Given the description of an element on the screen output the (x, y) to click on. 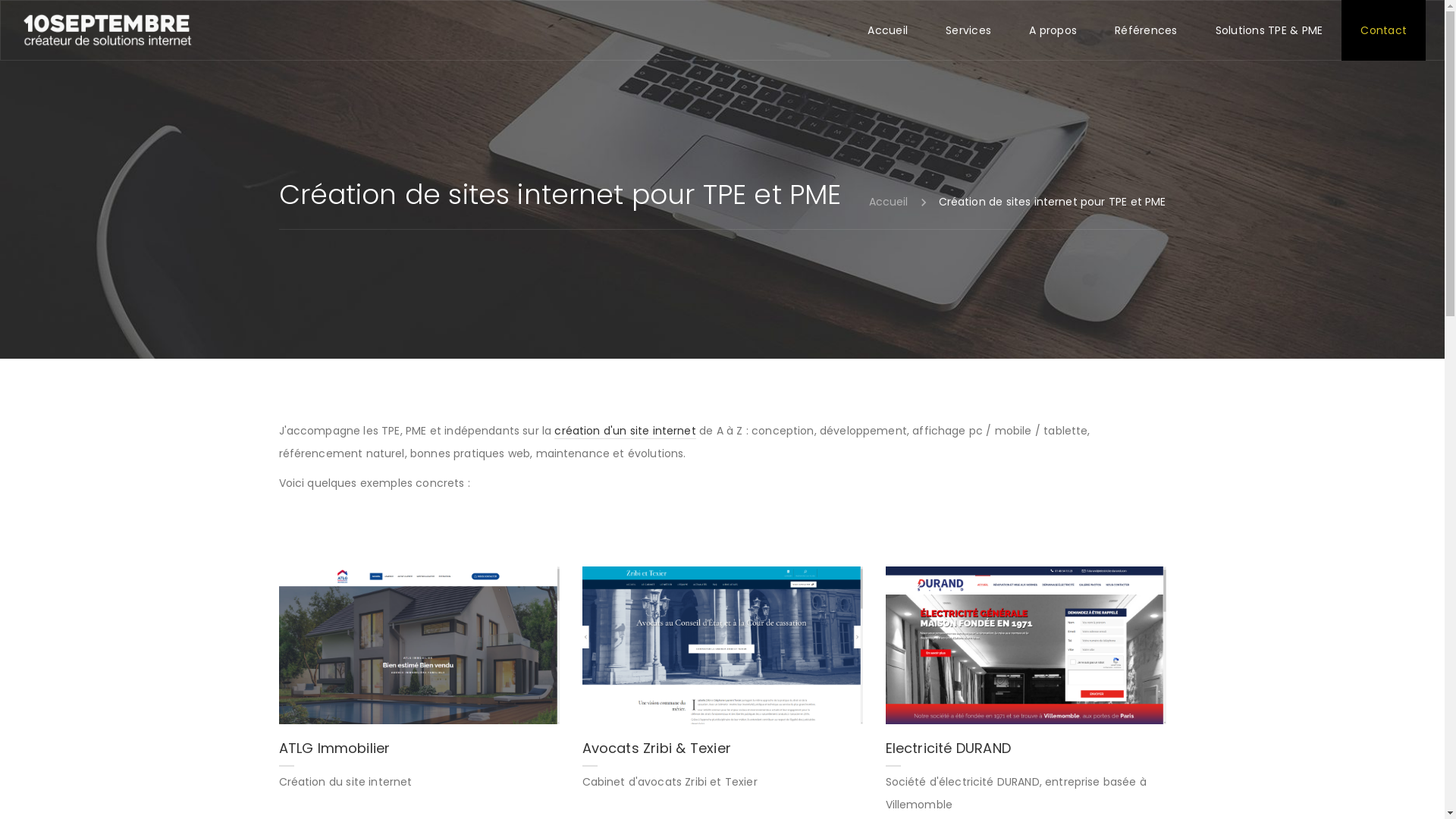
ATLG Immobilier Element type: hover (419, 644)
Services Element type: text (968, 29)
ATLG Immobilier Element type: text (419, 752)
Accueil Element type: text (888, 201)
Accueil Element type: text (887, 29)
Solutions TPE & PME Element type: text (1269, 29)
A propos Element type: text (1052, 29)
Avocats Zribi & Texier Element type: hover (722, 644)
Contact Element type: text (1383, 29)
Avocats Zribi & Texier Element type: text (722, 752)
